Given the description of an element on the screen output the (x, y) to click on. 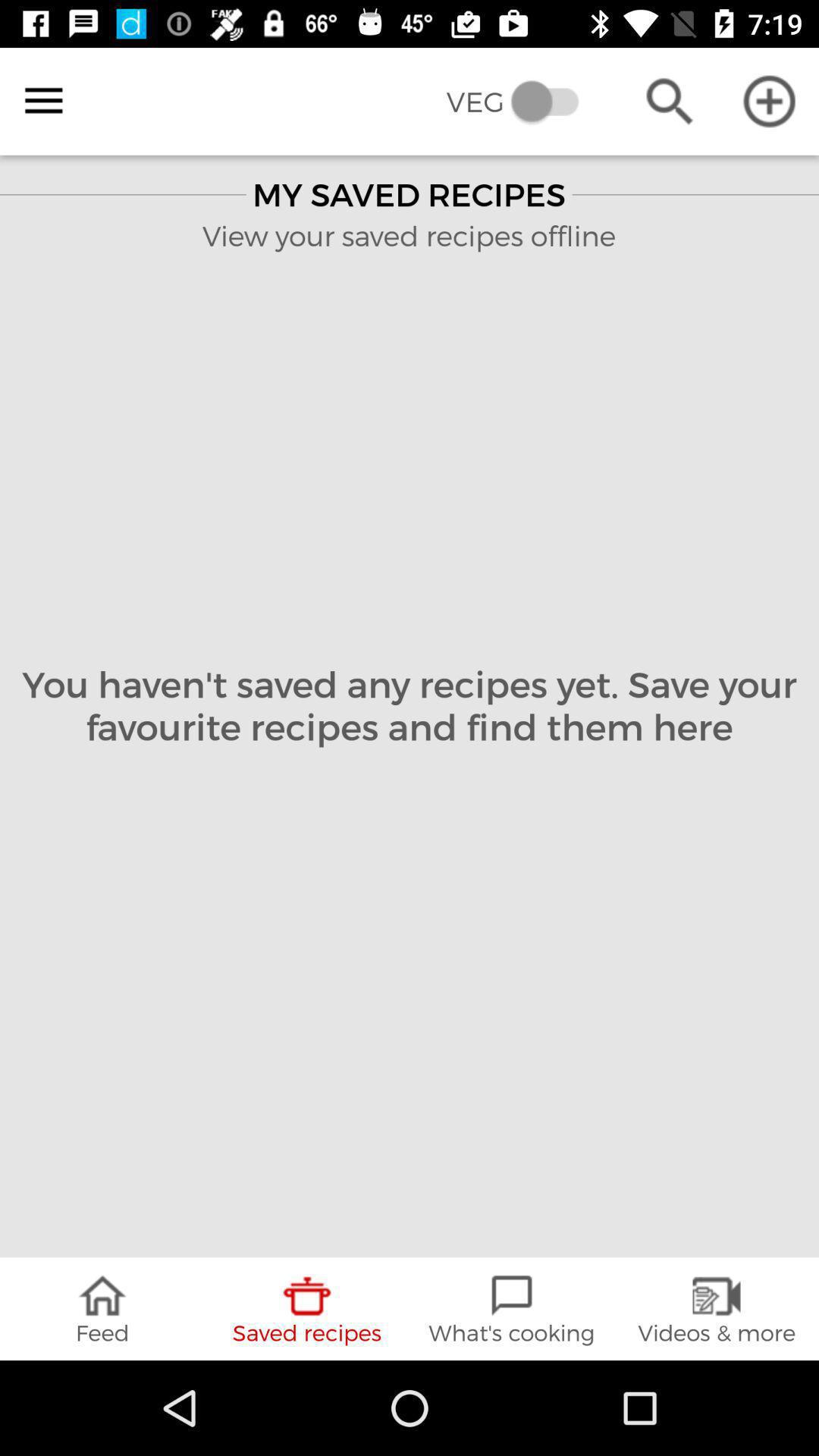
select icon below the you haven t (102, 1308)
